Given the description of an element on the screen output the (x, y) to click on. 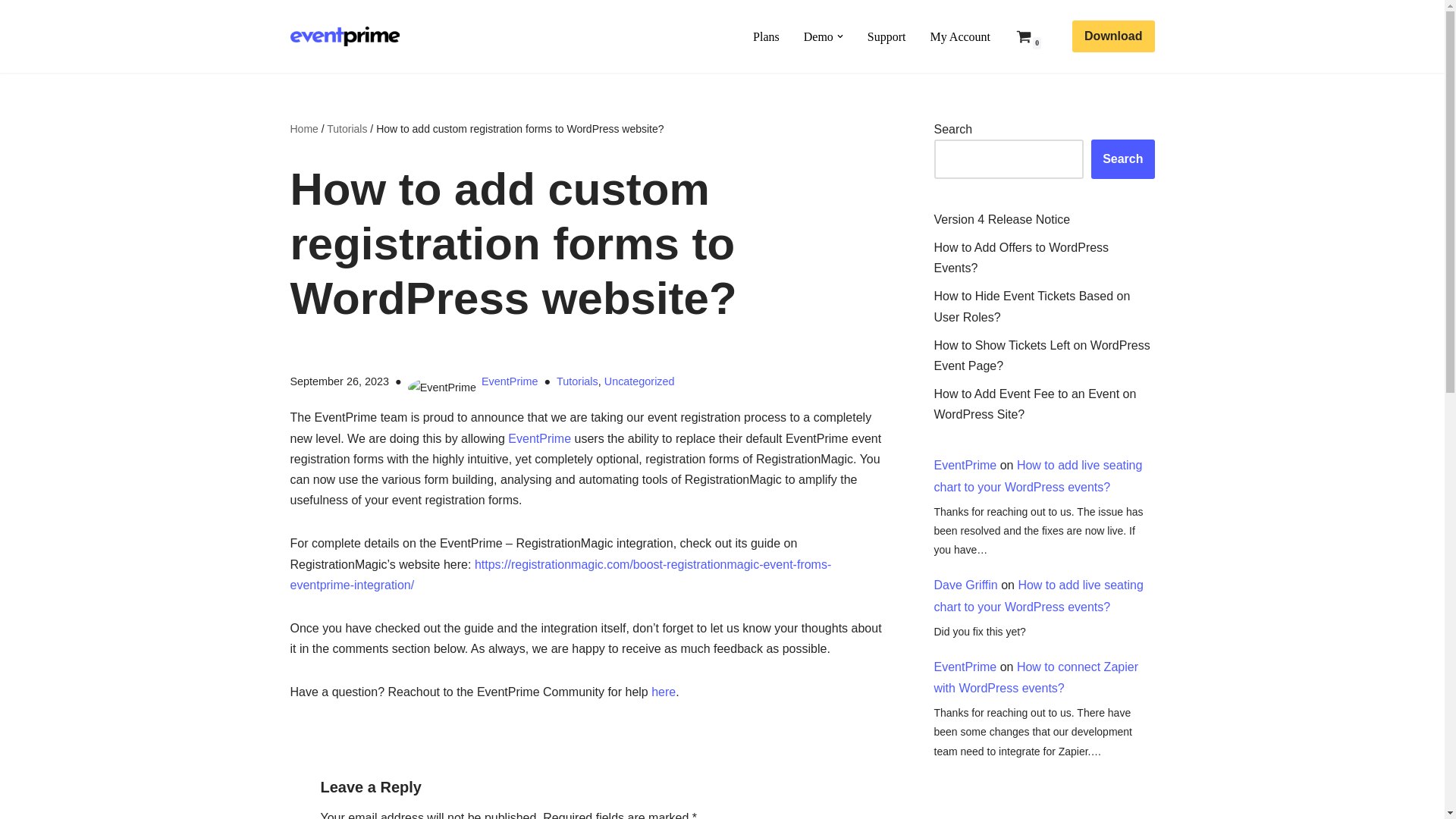
My Account (960, 36)
Skip to content (11, 31)
0 (1023, 36)
EventPrime (347, 36)
Demo (817, 36)
Download (1112, 36)
Posts by EventPrime (509, 381)
Plans (765, 36)
Support (886, 36)
